Given the description of an element on the screen output the (x, y) to click on. 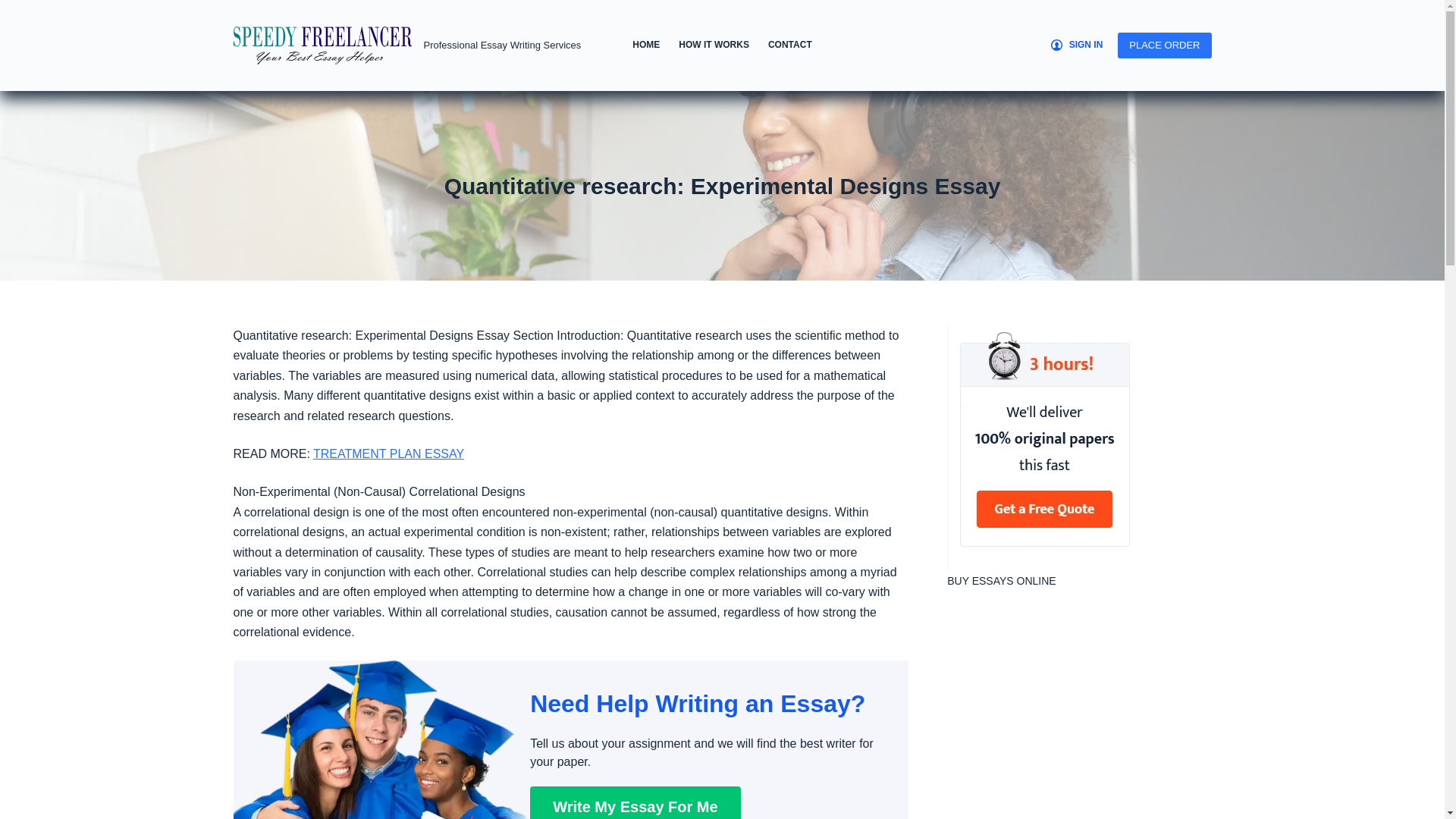
TREATMENT PLAN ESSAY (388, 453)
Skip to content (15, 7)
HOW IT WORKS (713, 45)
Write My Essay For Me (634, 802)
PLACE ORDER (1164, 45)
SIGN IN (1076, 45)
Quantitative research: Experimental Designs Essay (722, 185)
